Given the description of an element on the screen output the (x, y) to click on. 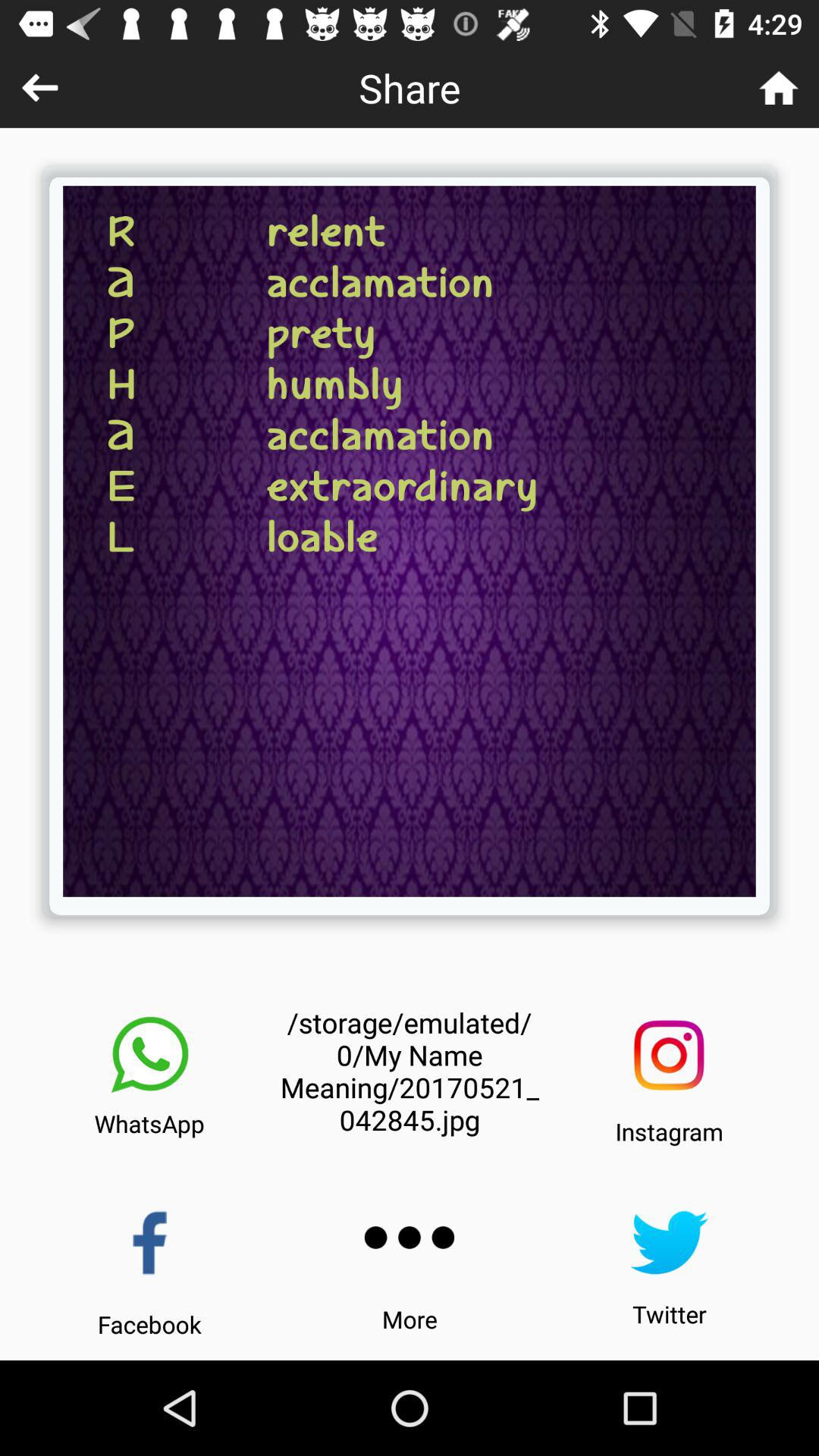
tap the icon next to the storage emulated 0 icon (668, 1055)
